Given the description of an element on the screen output the (x, y) to click on. 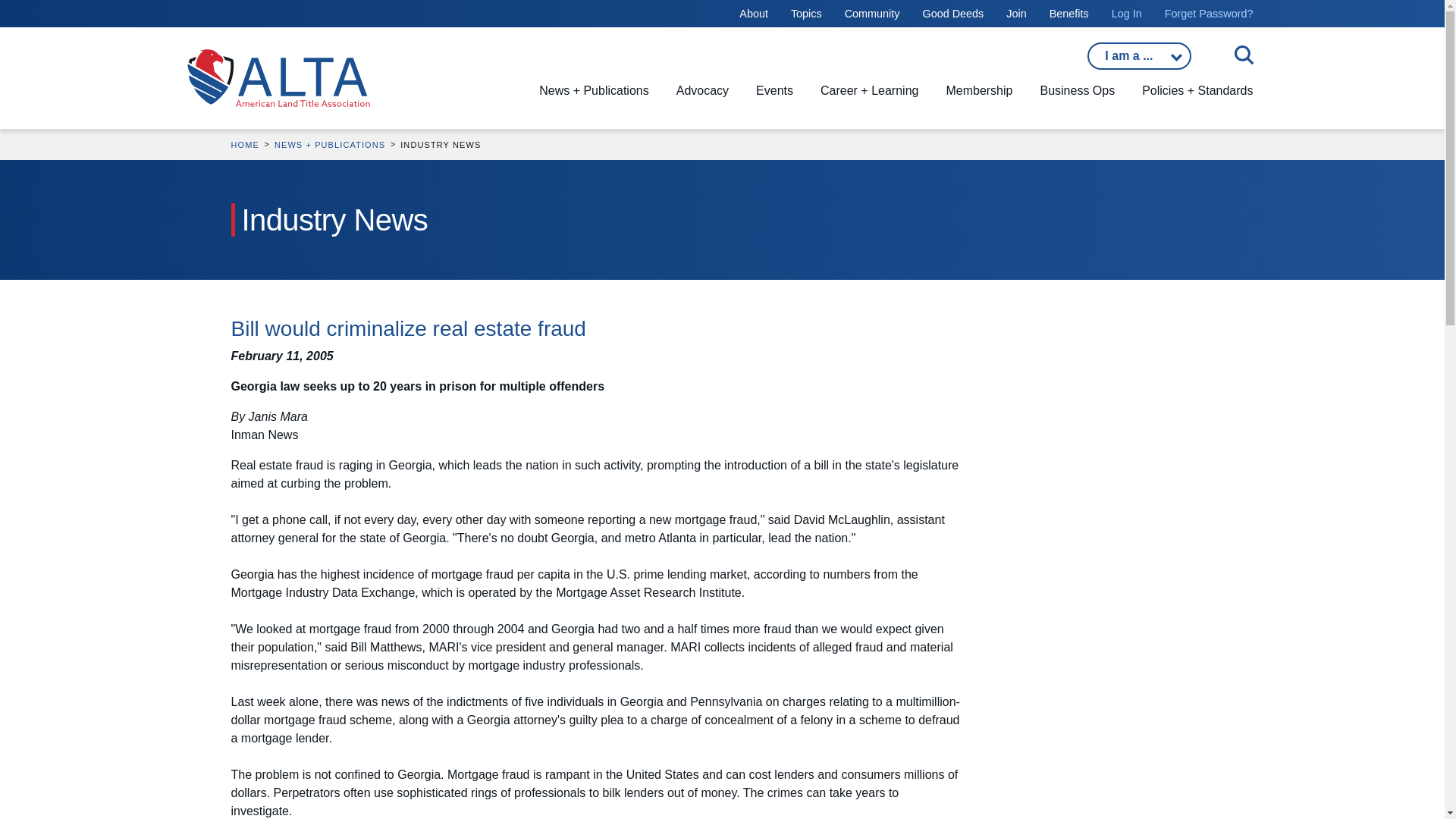
Good Deeds (952, 13)
Join (1016, 13)
I am a ... (1139, 55)
Benefits (1069, 13)
About (753, 13)
Forget Password? (1208, 13)
Log In (1126, 13)
Community (871, 13)
Topics (806, 13)
Search (372, 47)
